Given the description of an element on the screen output the (x, y) to click on. 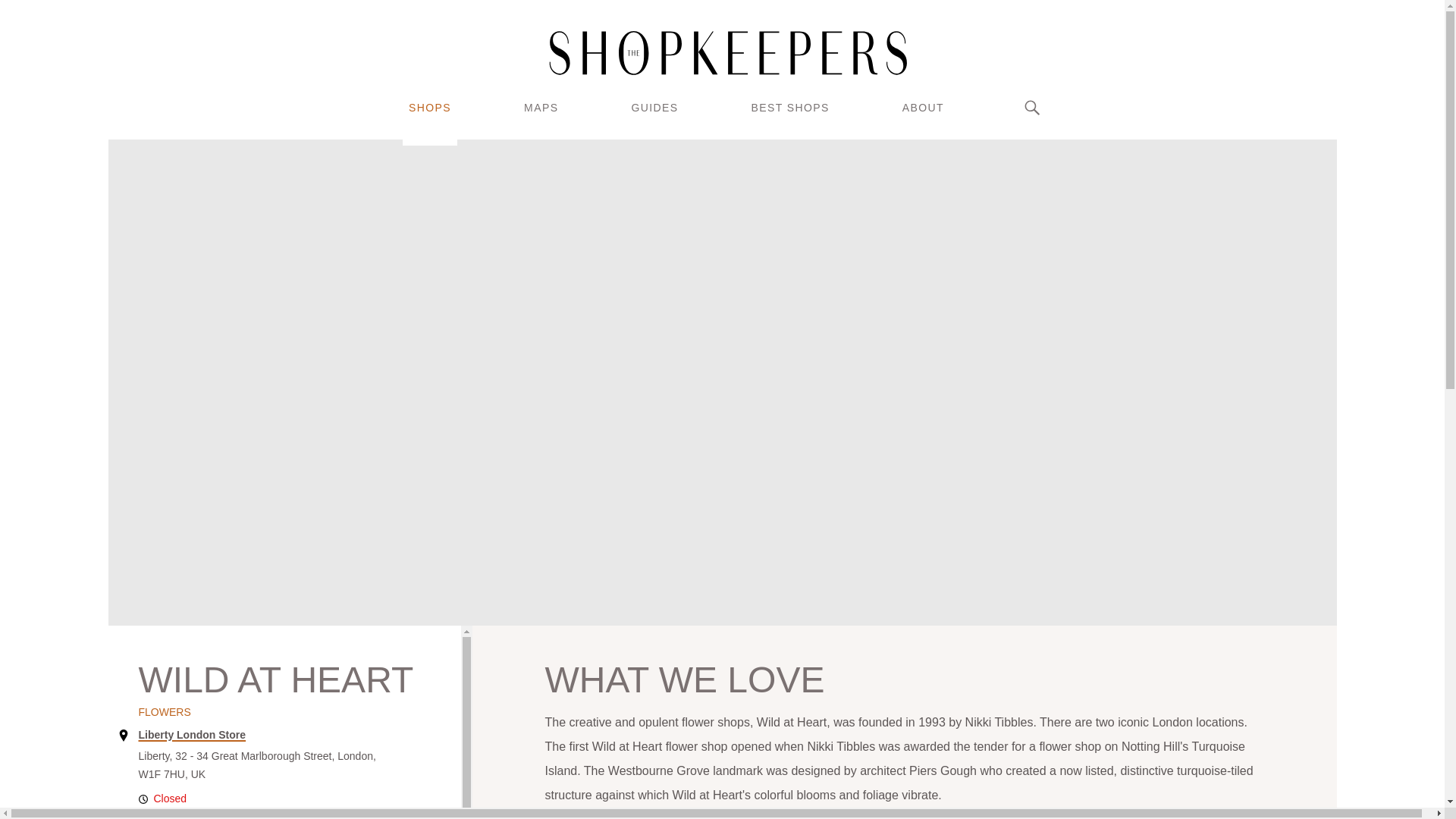
GUIDES (654, 107)
FLOWERS (164, 711)
More Hours (274, 813)
BEST SHOPS (789, 107)
